Given the description of an element on the screen output the (x, y) to click on. 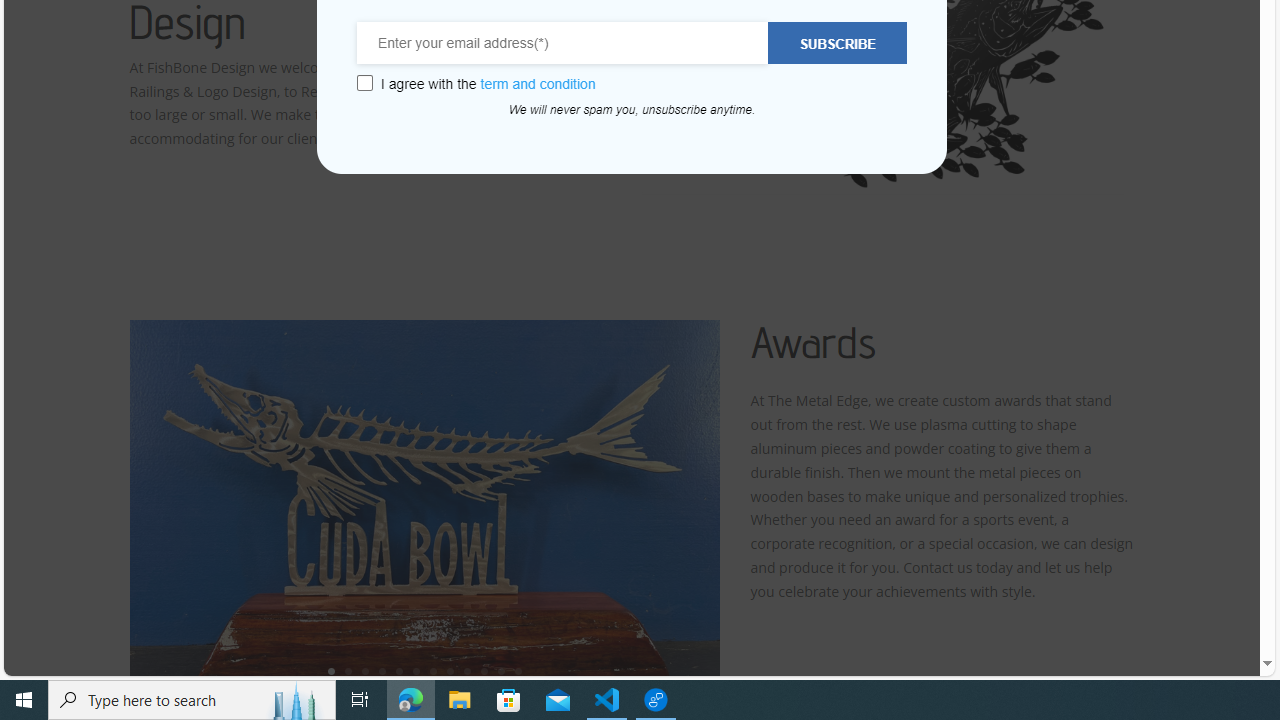
5 (399, 670)
12 (518, 670)
Enter your email address(*) (563, 43)
7 (433, 670)
8 (450, 670)
6 (416, 670)
10 (484, 670)
9 (467, 670)
1 (331, 670)
4 (382, 670)
3 (365, 670)
term and condition (538, 84)
2 (348, 670)
Class: wcb-gdpr-checkbox (364, 83)
11 (501, 670)
